Given the description of an element on the screen output the (x, y) to click on. 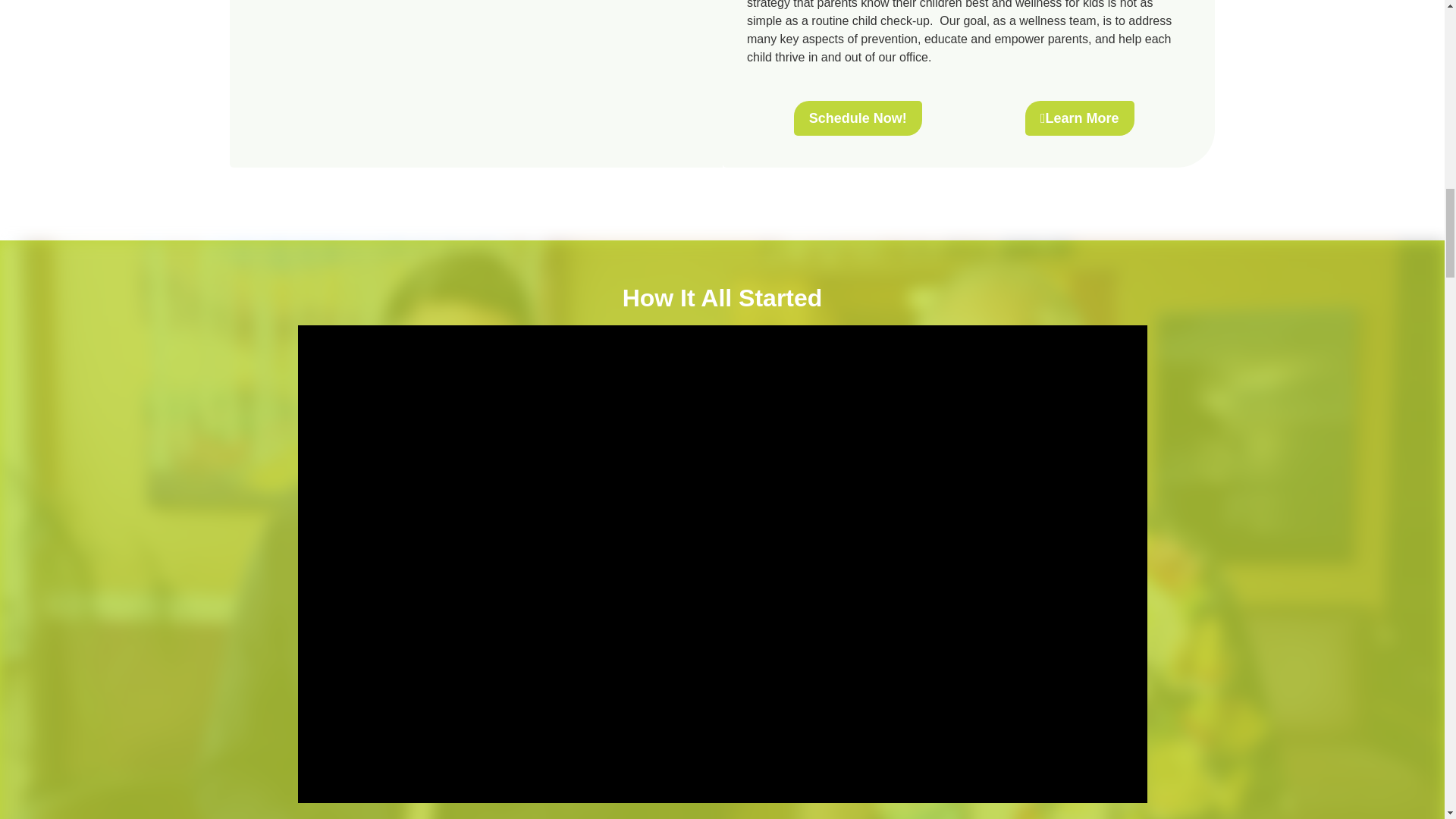
Home (475, 63)
